Given the description of an element on the screen output the (x, y) to click on. 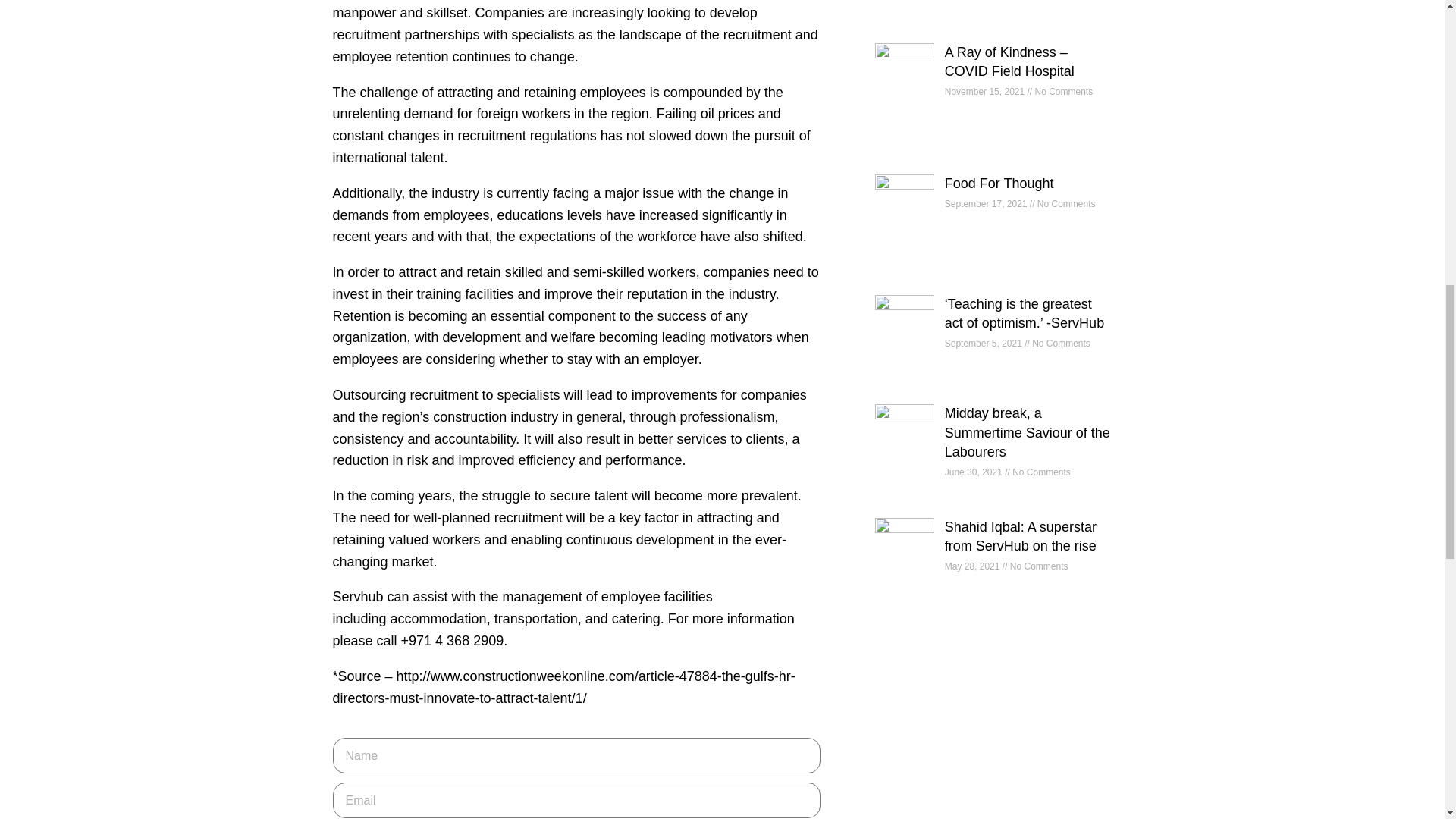
Midday break, a Summertime Saviour of the Labourers (1026, 431)
Shahid Iqbal: A superstar from ServHub on the rise (1020, 536)
Food For Thought (999, 183)
accommodation (438, 618)
Servhub (356, 596)
